Given the description of an element on the screen output the (x, y) to click on. 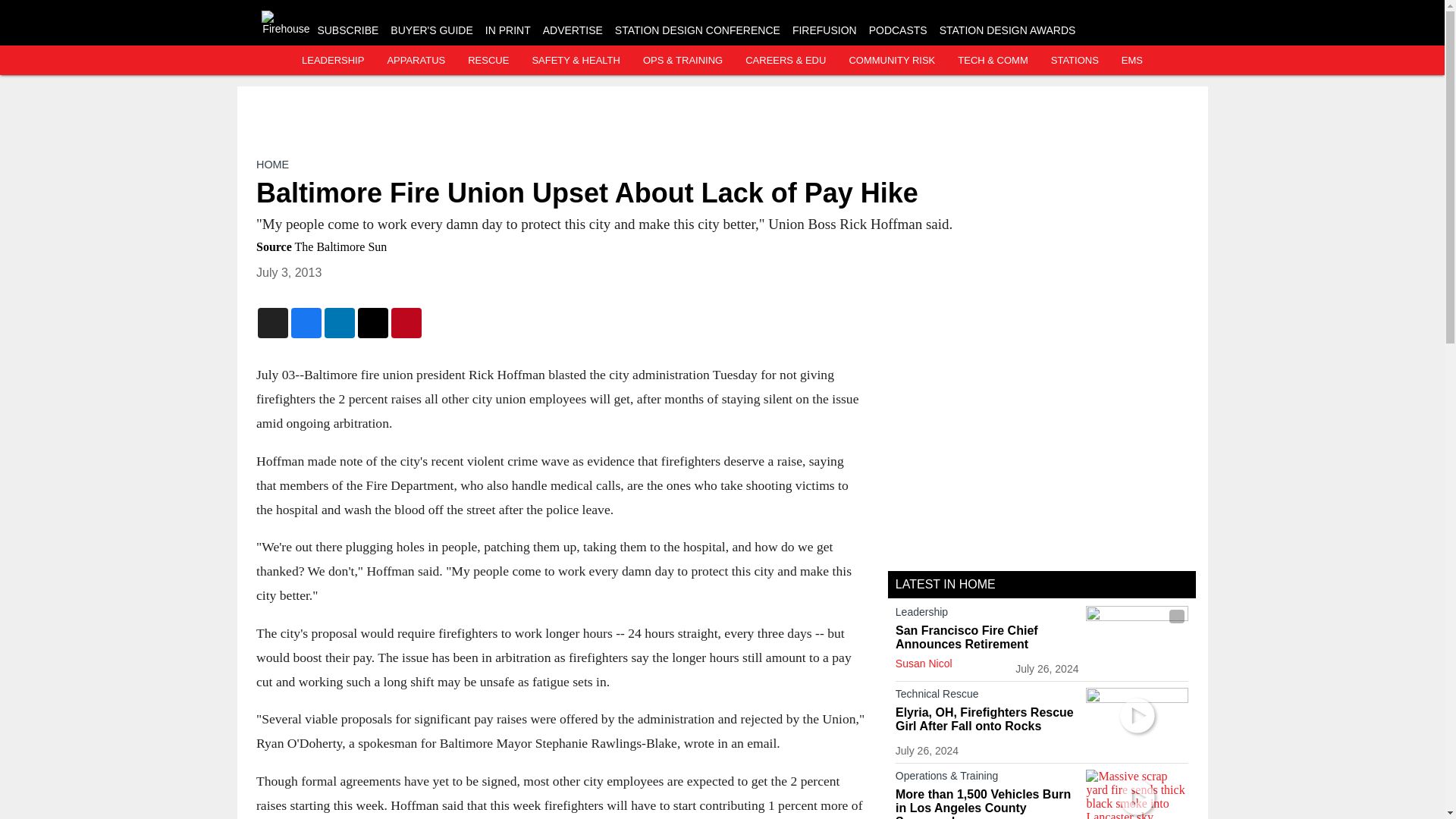
Technical Rescue (986, 696)
Leadership (986, 615)
ADVERTISE (572, 30)
EMS (1131, 60)
LEADERSHIP (332, 60)
RESCUE (487, 60)
Susan Nicol (923, 663)
STATION DESIGN AWARDS (1007, 30)
LATEST IN HOME (945, 584)
IN PRINT (507, 30)
APPARATUS (416, 60)
HOME (272, 164)
BUYER'S GUIDE (430, 30)
San Francisco Fire Chief Announces Retirement (986, 637)
